Given the description of an element on the screen output the (x, y) to click on. 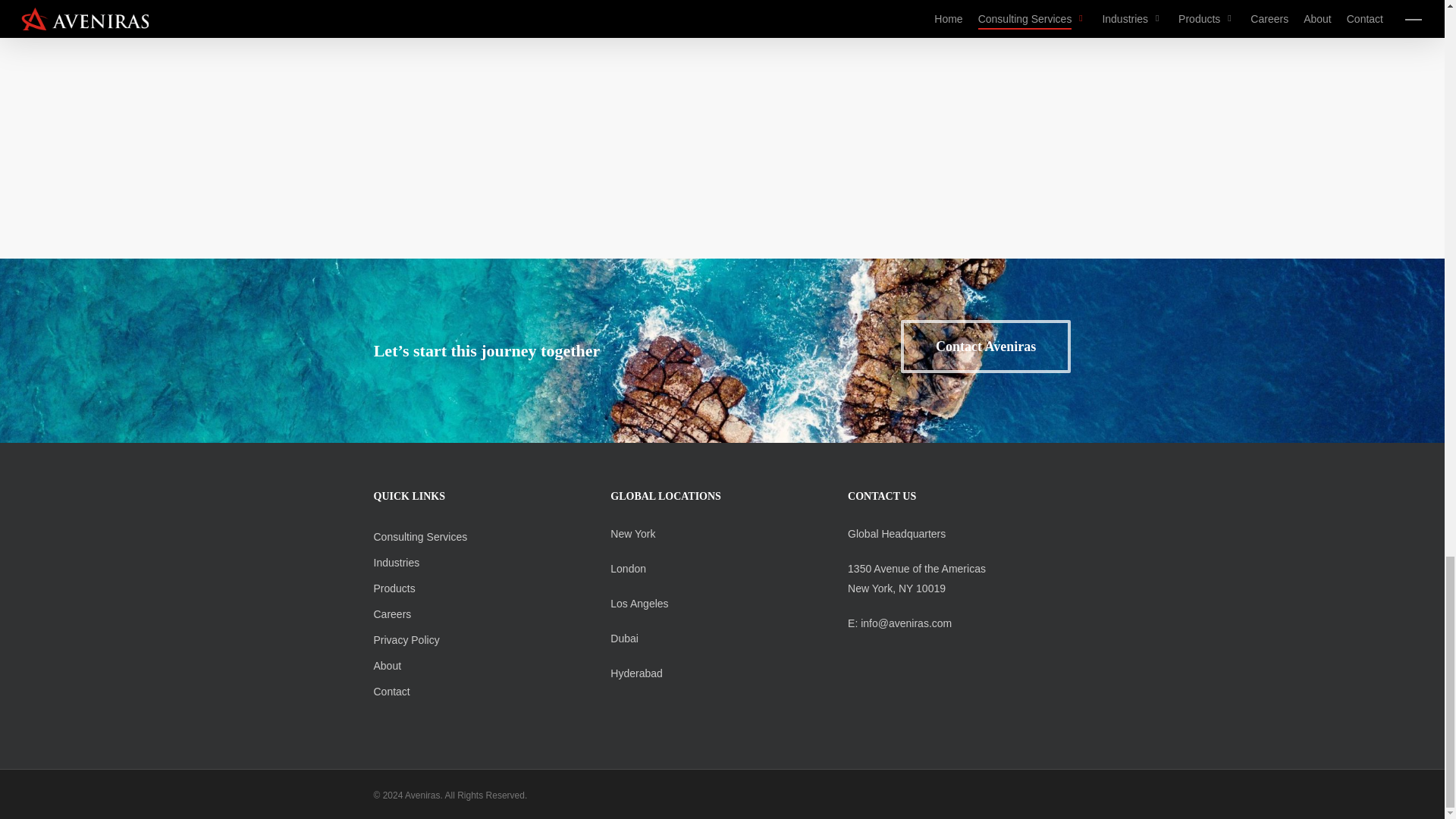
Contact Aveniras (985, 346)
Careers (391, 613)
Consulting Services (419, 536)
Contact (390, 691)
About (386, 665)
Privacy Policy (405, 639)
Industries (395, 562)
Products (393, 588)
